Given the description of an element on the screen output the (x, y) to click on. 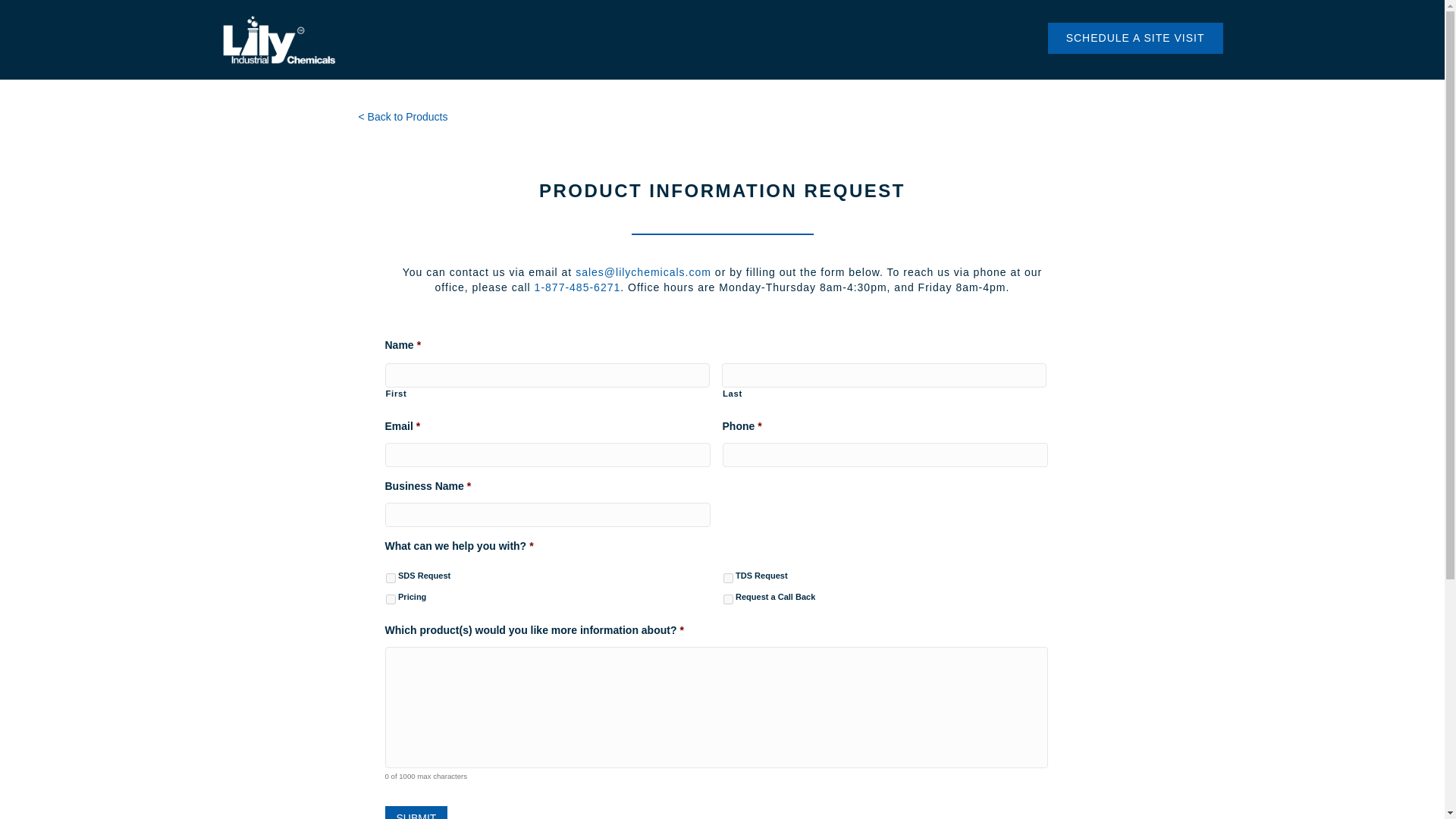
SUBMIT (416, 812)
1-877-485-6271 (577, 287)
SCHEDULE A SITE VISIT (1135, 38)
TDS Request (728, 578)
LilyLogo-NoCircle-01-01 (277, 39)
SDS Request (389, 578)
SUBMIT (416, 812)
Pricing (389, 599)
Request a Call Back (728, 599)
